Given the description of an element on the screen output the (x, y) to click on. 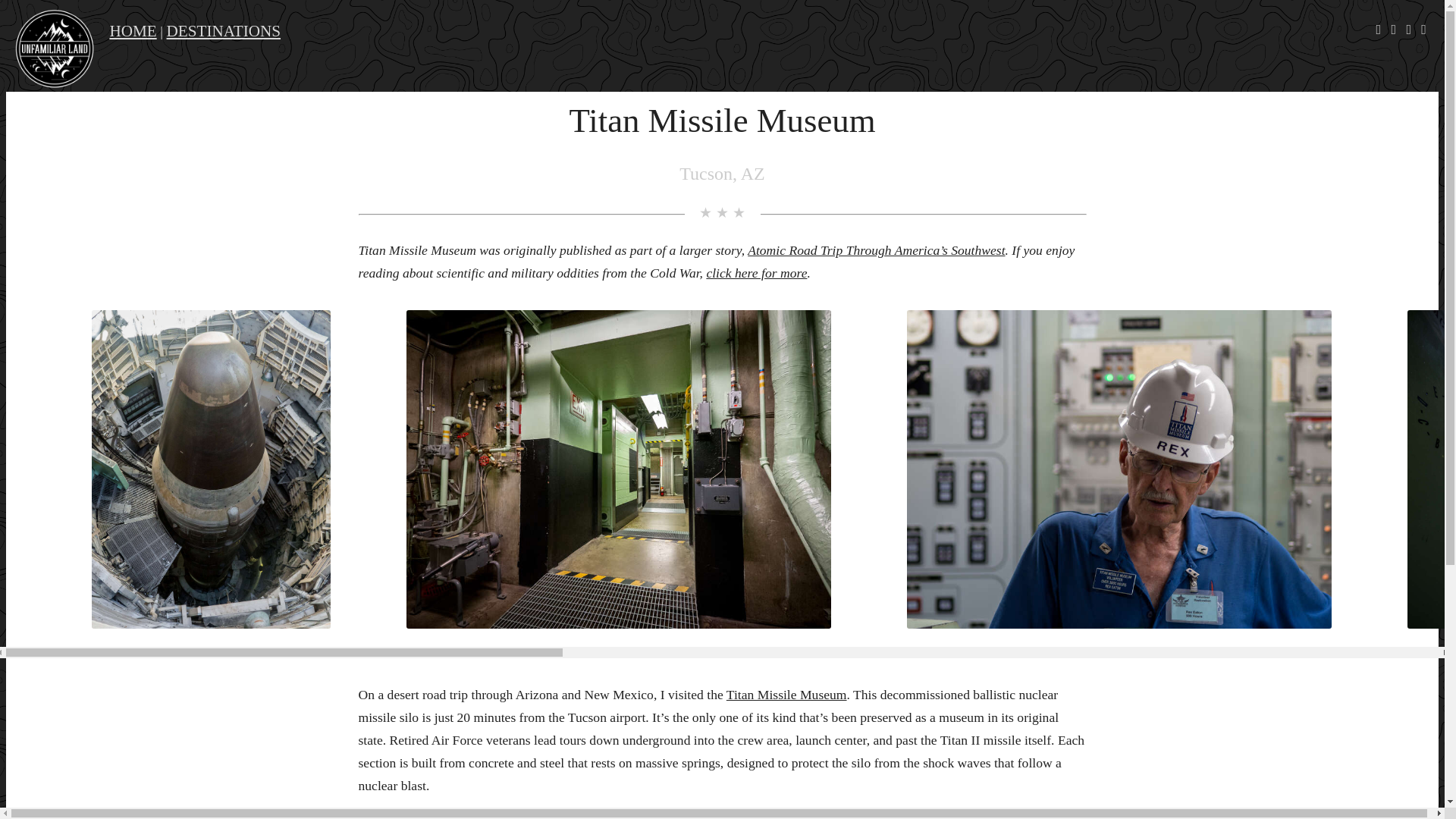
HOME (132, 31)
DESTINATIONS (224, 31)
Titan Missile Museum (786, 694)
click here for more (756, 272)
